Given the description of an element on the screen output the (x, y) to click on. 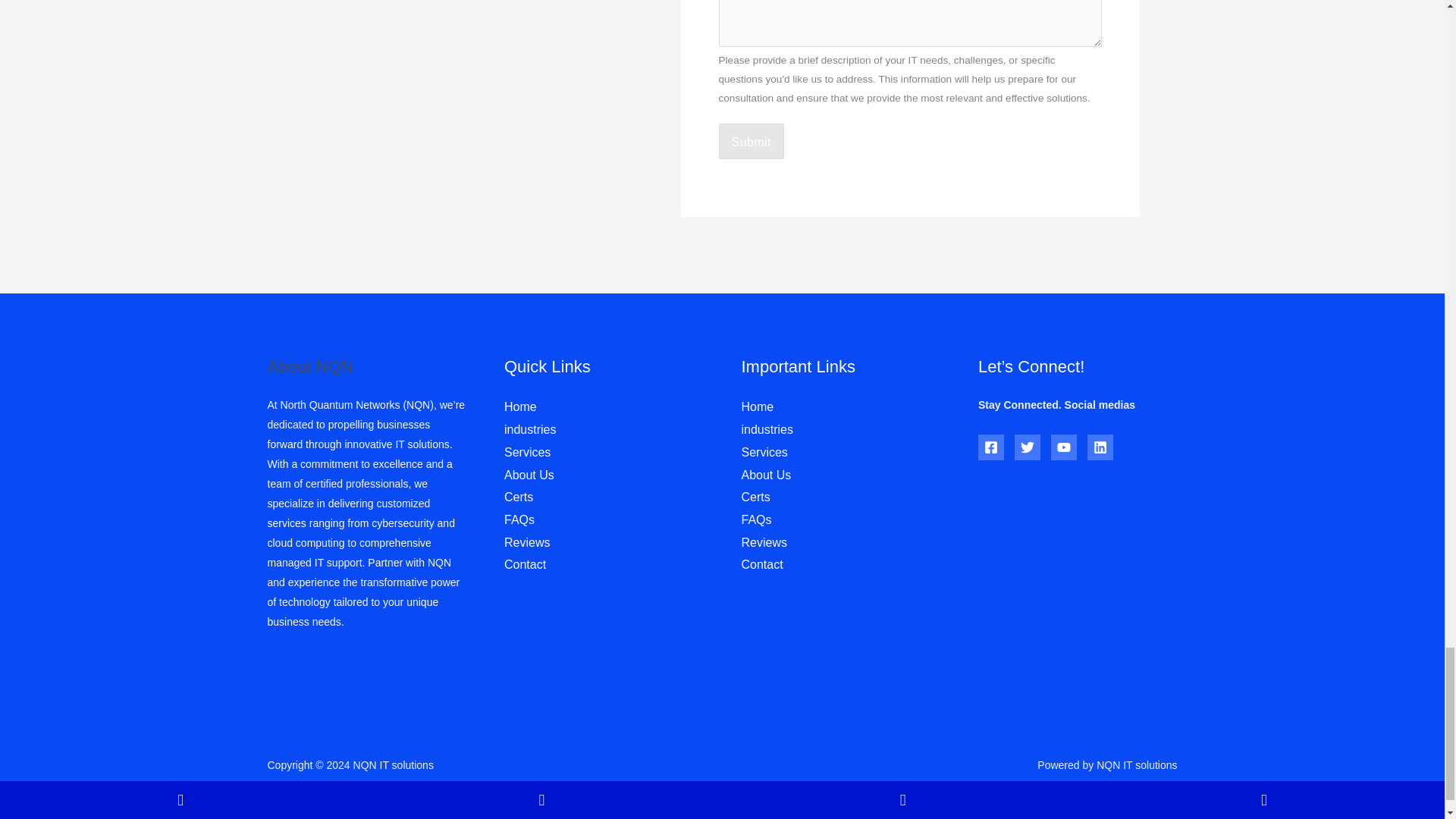
Reviews (526, 542)
Services (764, 451)
Contact (524, 563)
Services (526, 451)
industries (529, 429)
Home (757, 406)
About Us (528, 474)
About Us (766, 474)
FAQs (518, 519)
Home (520, 406)
